Given the description of an element on the screen output the (x, y) to click on. 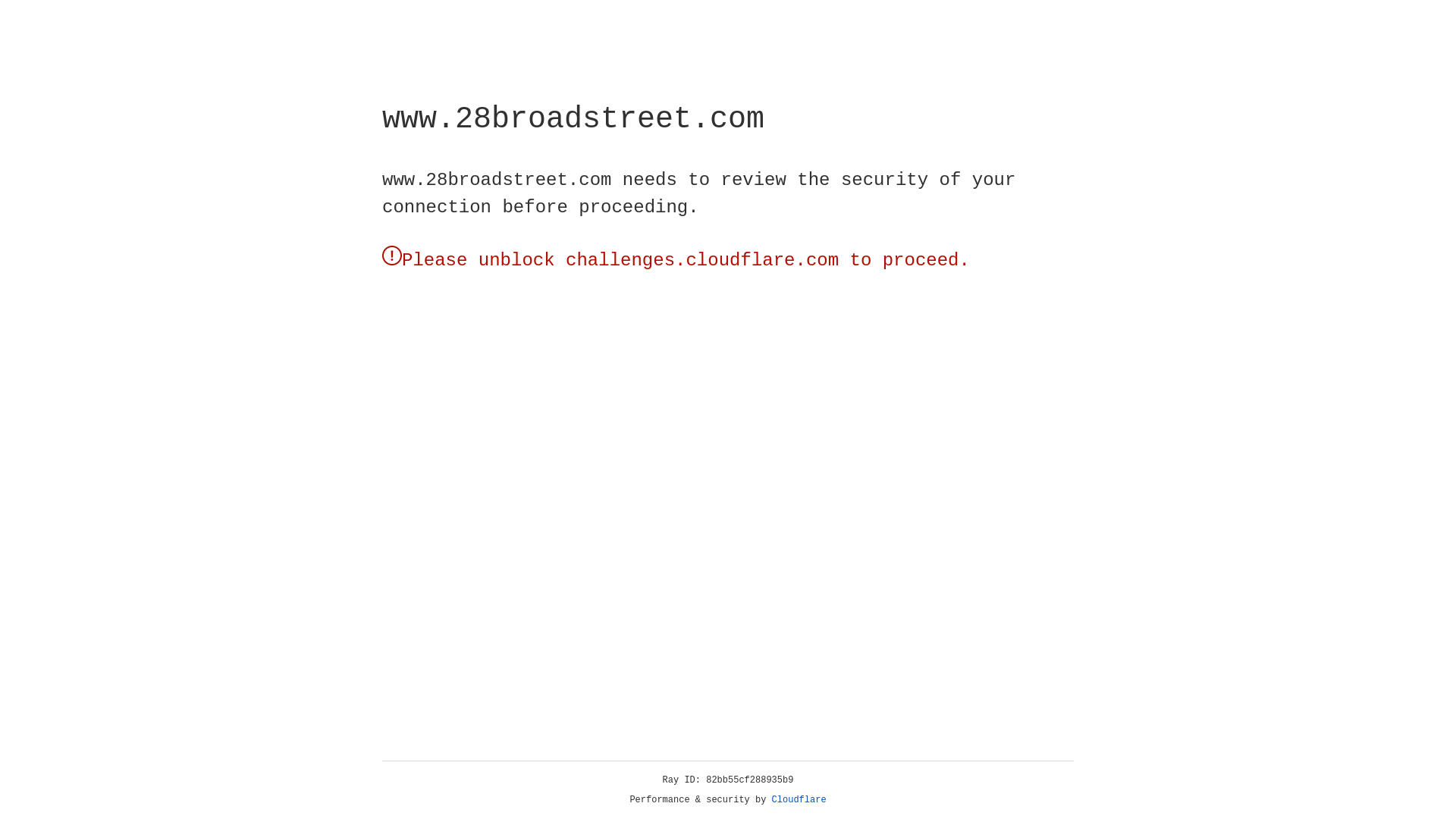
Cloudflare Element type: text (165, 107)
